Given the description of an element on the screen output the (x, y) to click on. 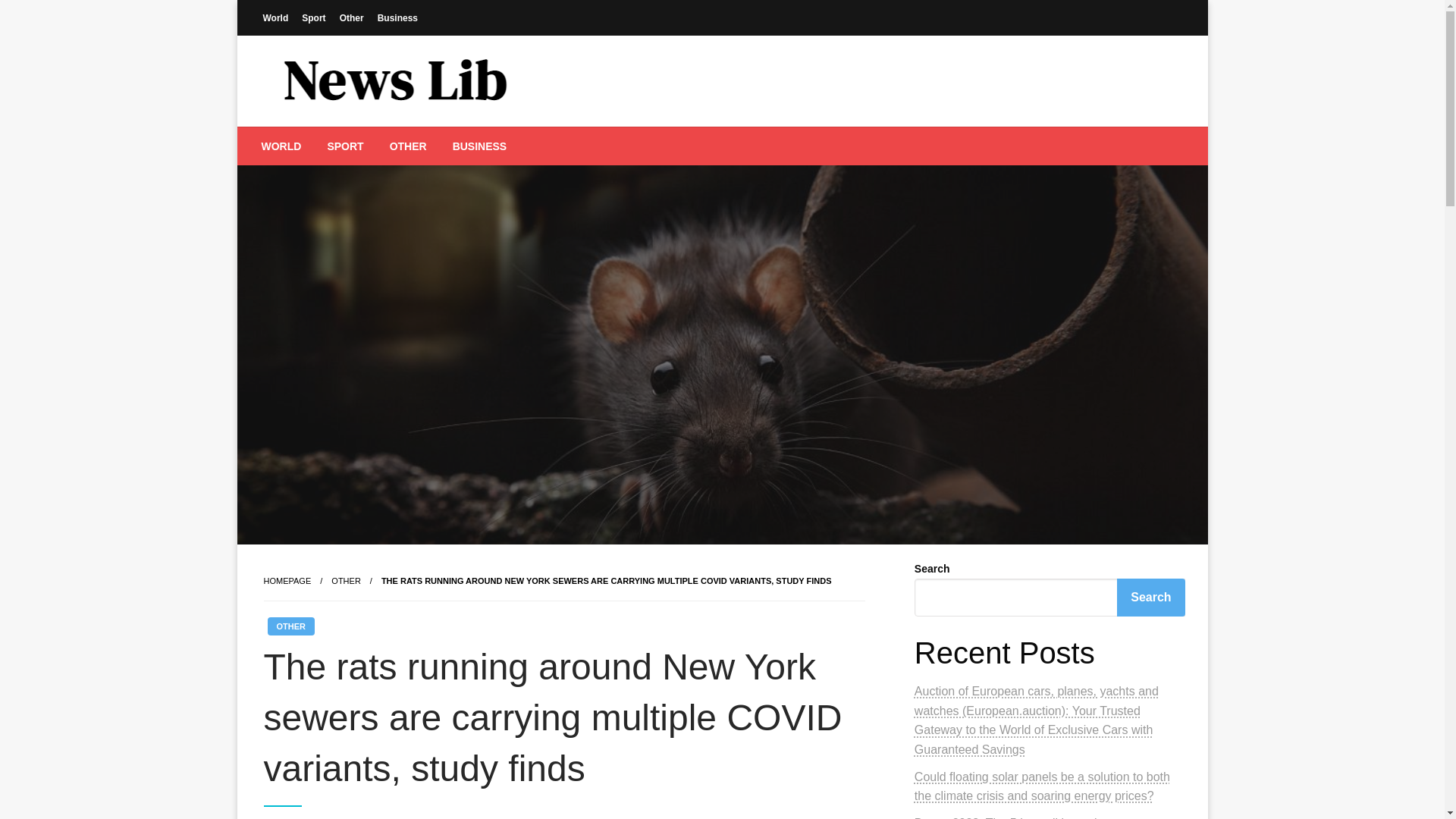
SPORT (344, 146)
OTHER (346, 580)
BUSINESS (479, 146)
OTHER (408, 146)
Other (346, 580)
Homepage (287, 580)
OTHER (290, 626)
Other (352, 17)
News Library (352, 138)
